Given the description of an element on the screen output the (x, y) to click on. 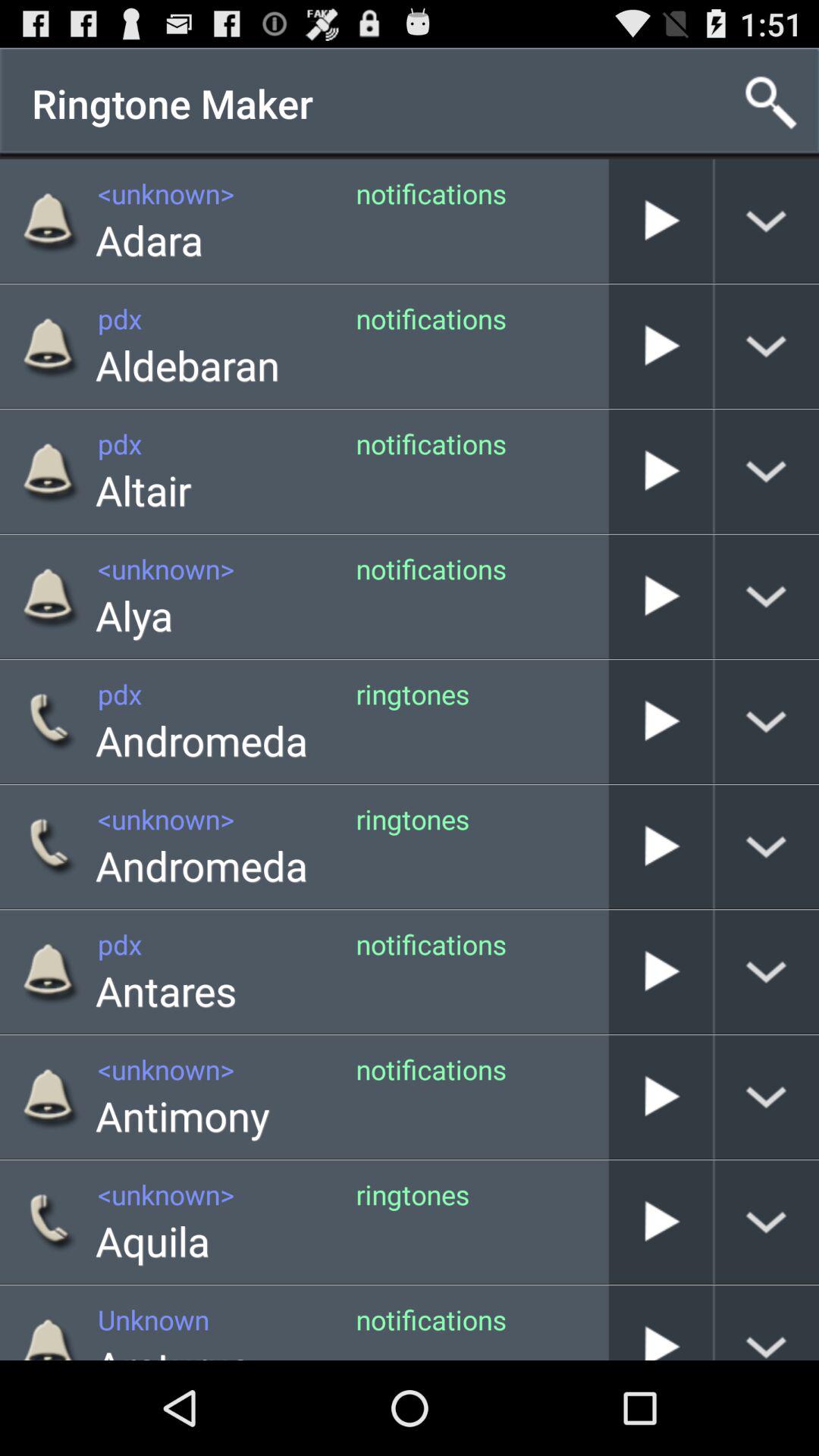
more options (767, 721)
